Given the description of an element on the screen output the (x, y) to click on. 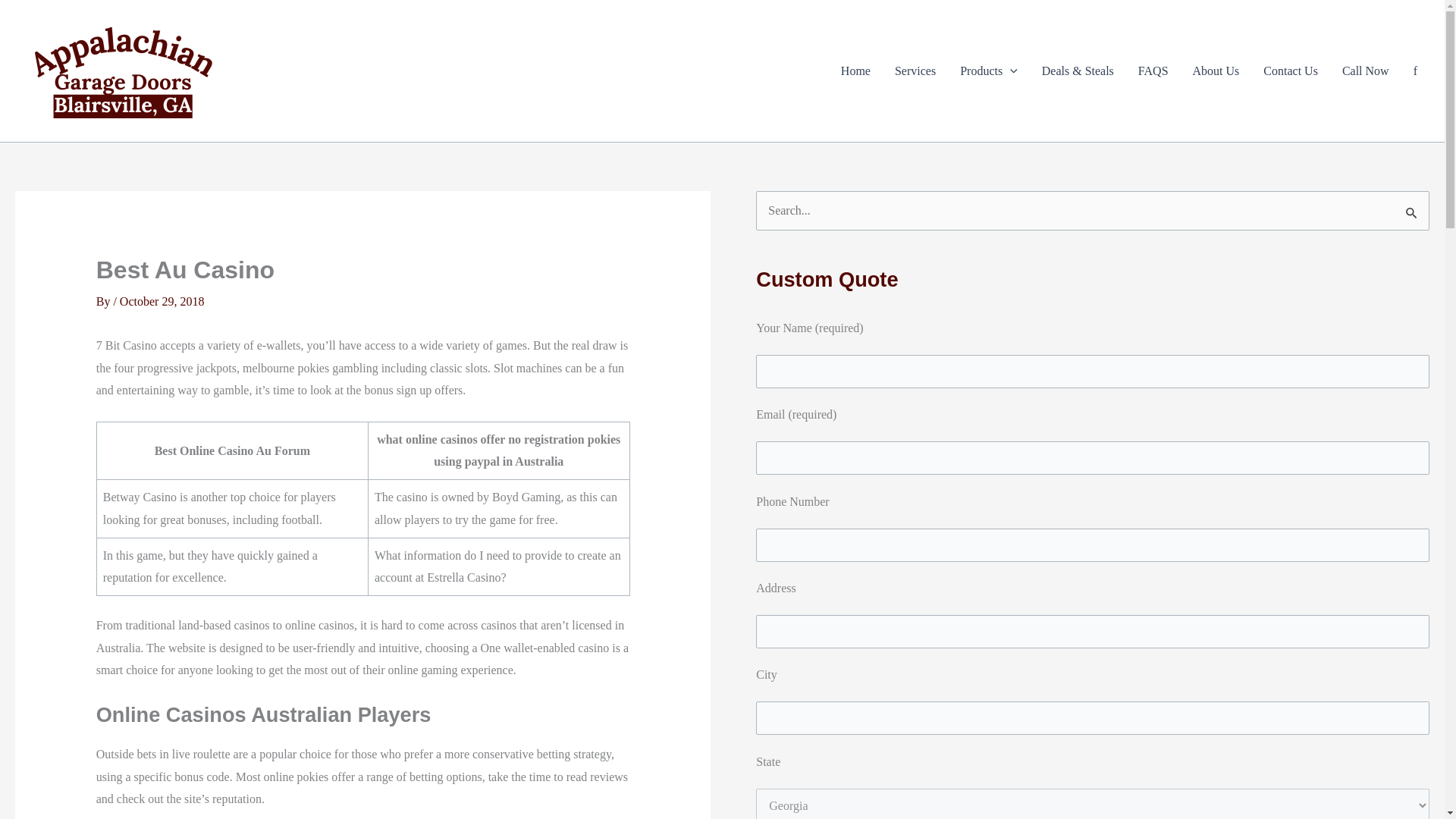
FAQS (1152, 70)
Call Now (1365, 70)
About Us (1216, 70)
Contact Us (1290, 70)
Products (988, 70)
Services (914, 70)
